Given the description of an element on the screen output the (x, y) to click on. 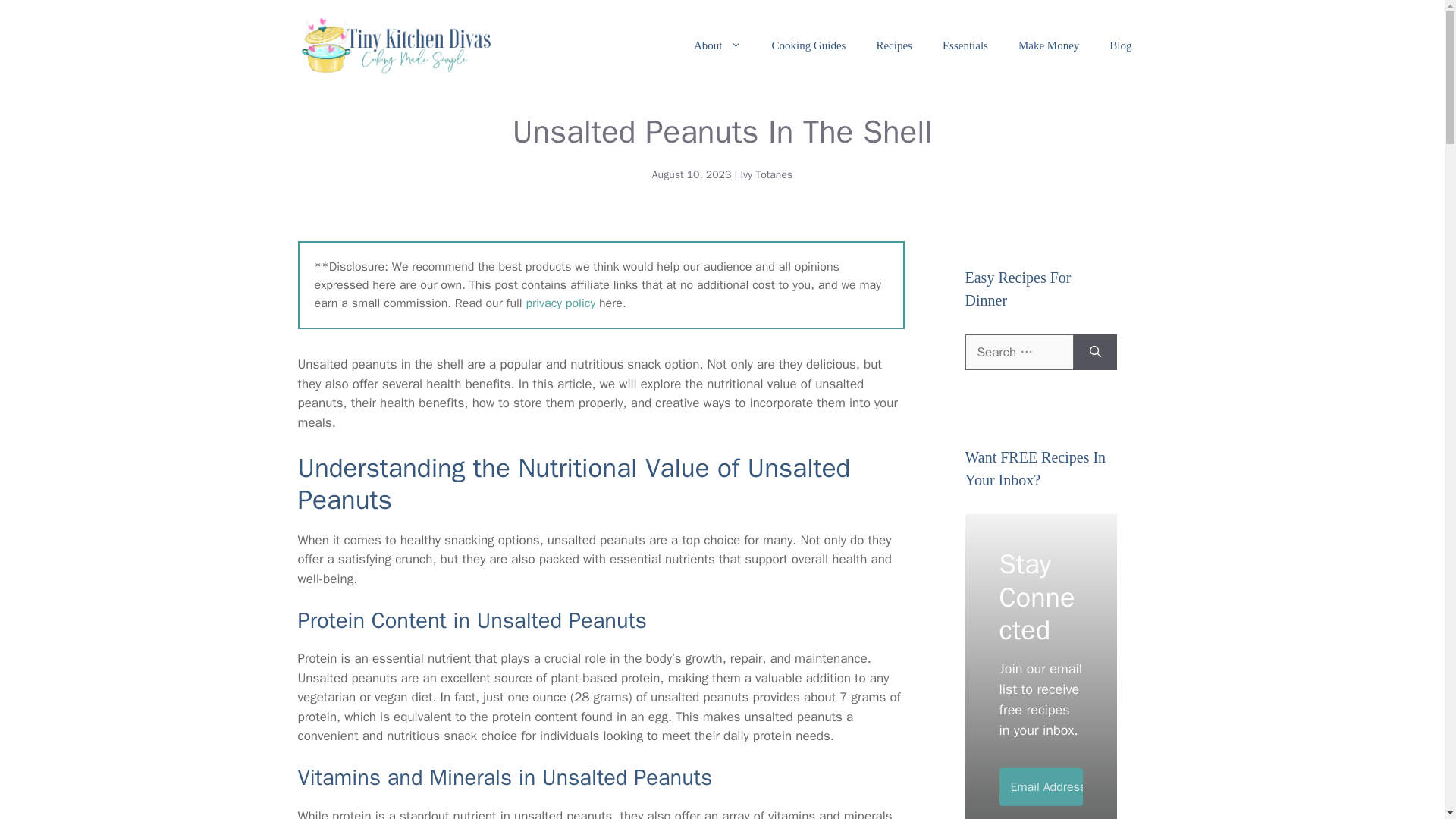
Make Money (1048, 44)
Cooking Guides (809, 44)
View all posts by Ivy Totanes (765, 174)
privacy policy (560, 303)
About (717, 44)
Search for: (1018, 352)
Recipes (893, 44)
Ivy Totanes (765, 174)
Essentials (965, 44)
Blog (1120, 44)
